Given the description of an element on the screen output the (x, y) to click on. 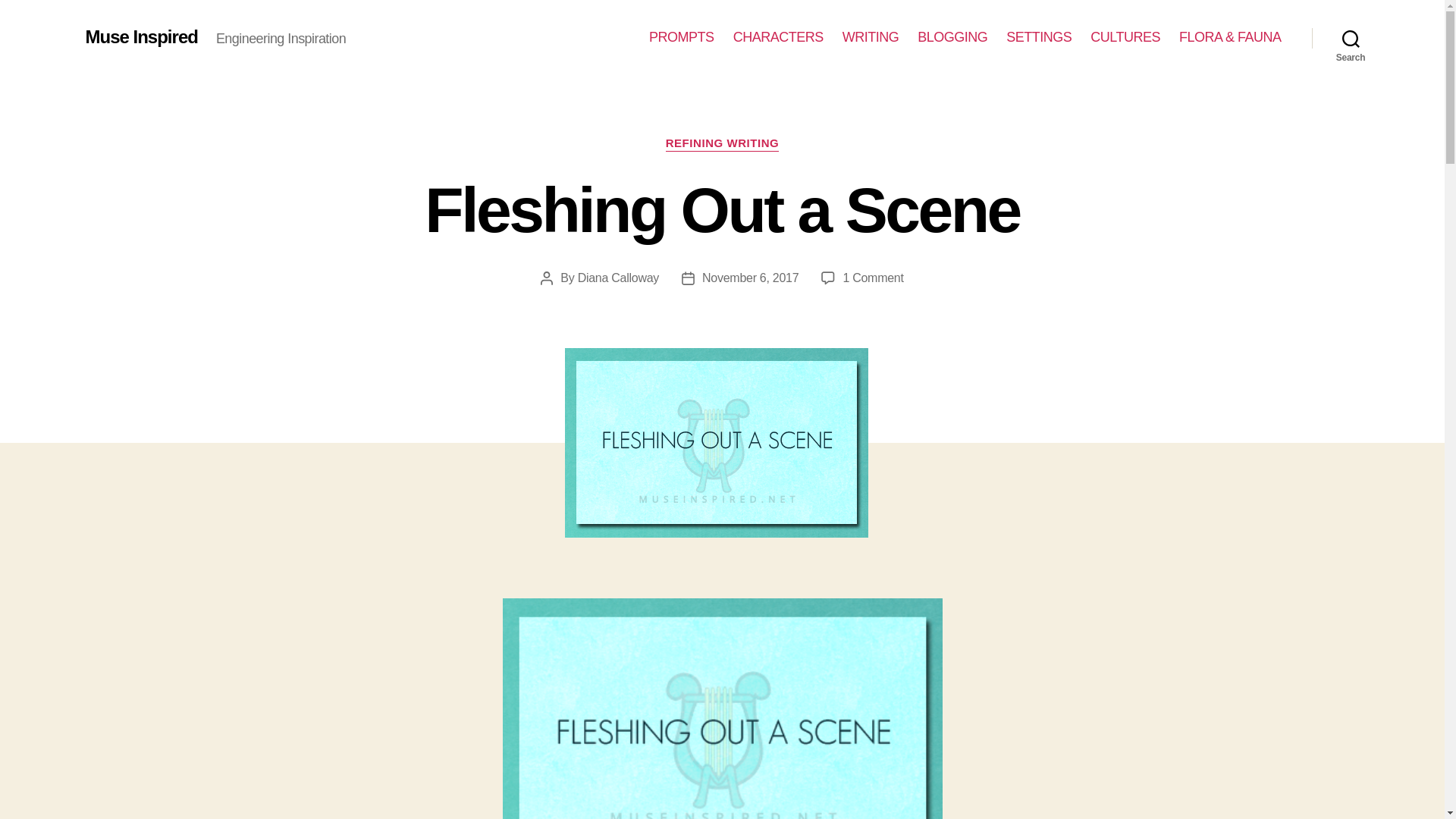
REFINING WRITING (721, 143)
WRITING (871, 37)
SETTINGS (1038, 37)
BLOGGING (952, 37)
November 6, 2017 (749, 277)
CHARACTERS (778, 37)
Diana Calloway (618, 277)
Search (872, 277)
Muse Inspired (1350, 37)
PROMPTS (140, 36)
CULTURES (681, 37)
